Given the description of an element on the screen output the (x, y) to click on. 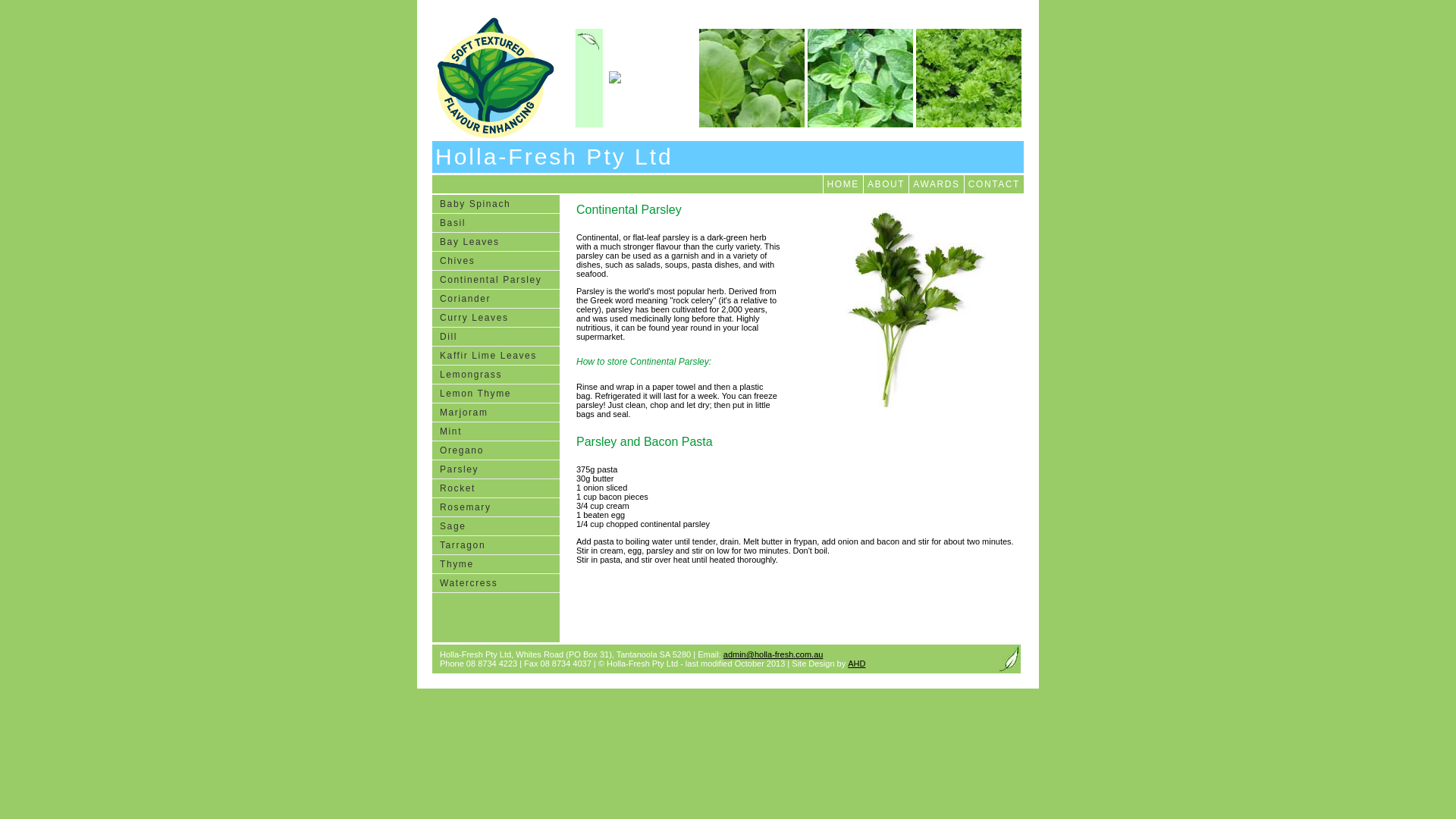
continental parsley Element type: hover (890, 311)
Baby Spinach Element type: text (495, 203)
Watercress Element type: text (495, 583)
ABOUT Element type: text (885, 184)
AWARDS Element type: text (935, 184)
Thyme Element type: text (495, 564)
Lemongrass Element type: text (495, 374)
Coriander Element type: text (495, 298)
Sage Element type: text (495, 526)
Chives Element type: text (495, 260)
HOME Element type: text (842, 184)
Tarragon Element type: text (495, 545)
Continental Parsley Element type: text (495, 279)
Mint Element type: text (495, 431)
oregano Element type: hover (860, 77)
mint Element type: hover (625, 77)
Oregano Element type: text (495, 450)
admin@holla-fresh.com.au Element type: text (773, 653)
Basil Element type: text (495, 222)
Rocket Element type: text (495, 488)
Marjoram Element type: text (495, 412)
Bay Leaves Element type: text (495, 241)
Lemon Thyme Element type: text (495, 393)
CONTACT Element type: text (993, 184)
Parsley Element type: text (495, 469)
basil Element type: hover (751, 77)
Dill Element type: text (495, 336)
Curry Leaves Element type: text (495, 317)
AHD Element type: text (856, 663)
logo Element type: hover (494, 77)
Kaffir Lime Leaves Element type: text (495, 355)
parsley Element type: hover (968, 77)
Rosemary Element type: text (495, 507)
